Given the description of an element on the screen output the (x, y) to click on. 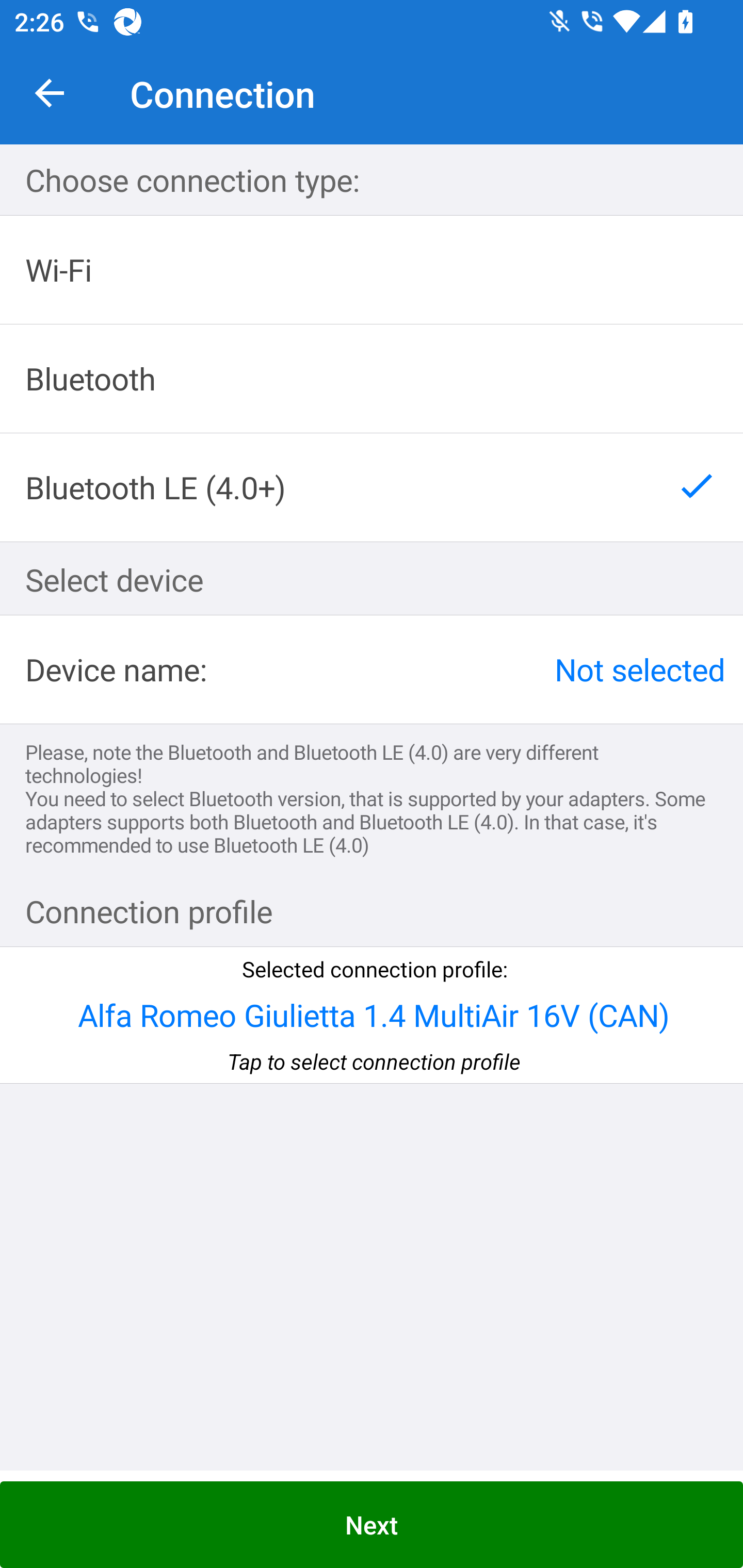
Wi-Fi (371, 270)
Bluetooth (371, 378)
Bluetooth LE (4.0+) (371, 486)
Device name: Not selected (371, 669)
Next (371, 1524)
